Given the description of an element on the screen output the (x, y) to click on. 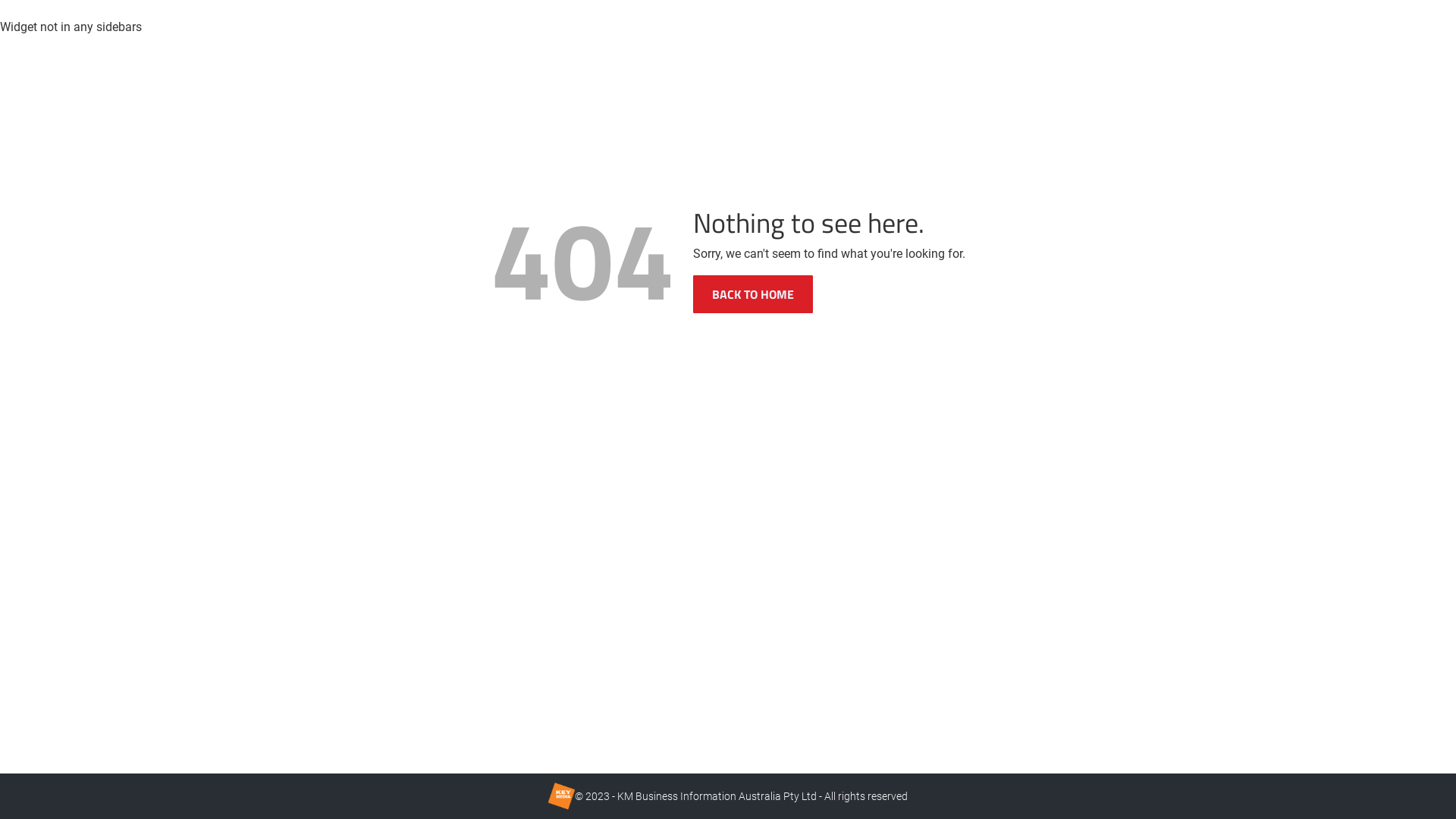
BACK TO HOME Element type: text (752, 294)
